Given the description of an element on the screen output the (x, y) to click on. 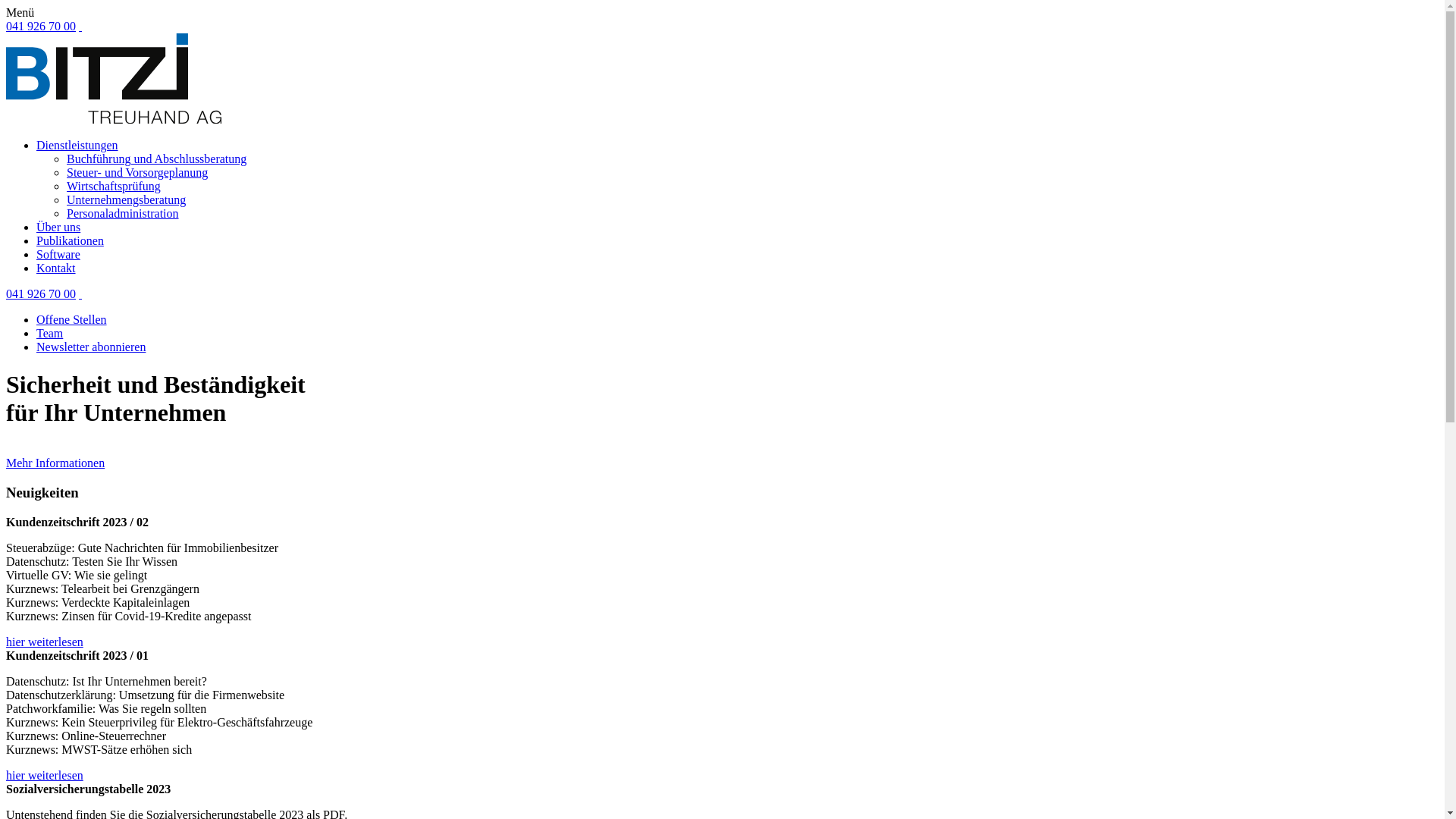
Team Element type: text (49, 332)
Unternehmengsberatung Element type: text (125, 199)
Personaladministration Element type: text (122, 213)
hier weiterlesen Element type: text (44, 641)
Steuer- und Vorsorgeplanung Element type: text (136, 172)
041 926 70 00 Element type: text (40, 25)
Software Element type: text (58, 253)
hier weiterlesen Element type: text (44, 774)
Kontakt Element type: text (55, 267)
041 926 70 00 Element type: text (40, 293)
Offene Stellen Element type: text (71, 319)
  Element type: text (79, 25)
Dienstleistungen Element type: text (77, 144)
  Element type: text (79, 293)
Publikationen Element type: text (69, 240)
Newsletter abonnieren Element type: text (90, 346)
Mehr Informationen Element type: text (55, 462)
